Given the description of an element on the screen output the (x, y) to click on. 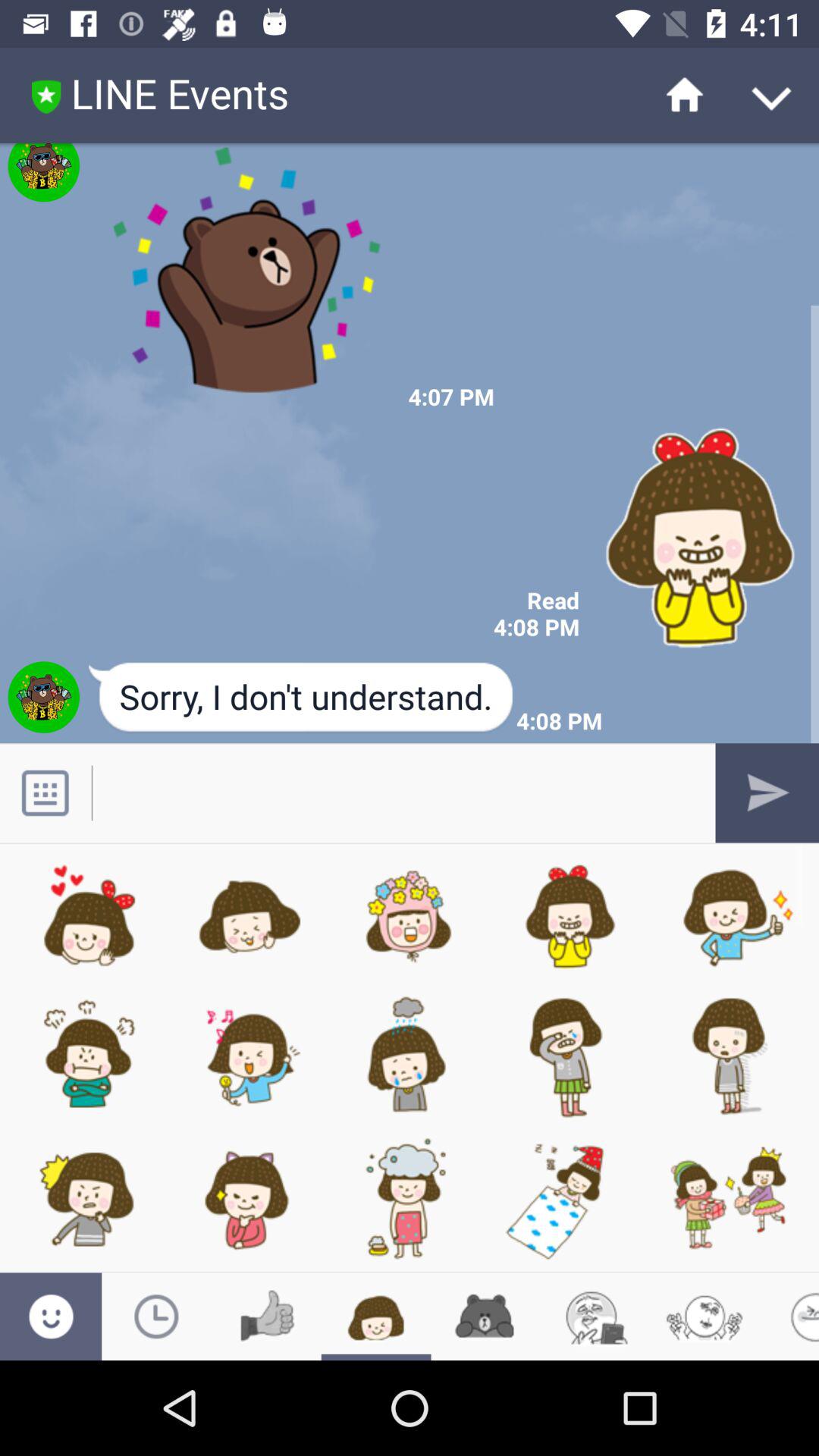
scroll to sorry i don item (301, 698)
